Given the description of an element on the screen output the (x, y) to click on. 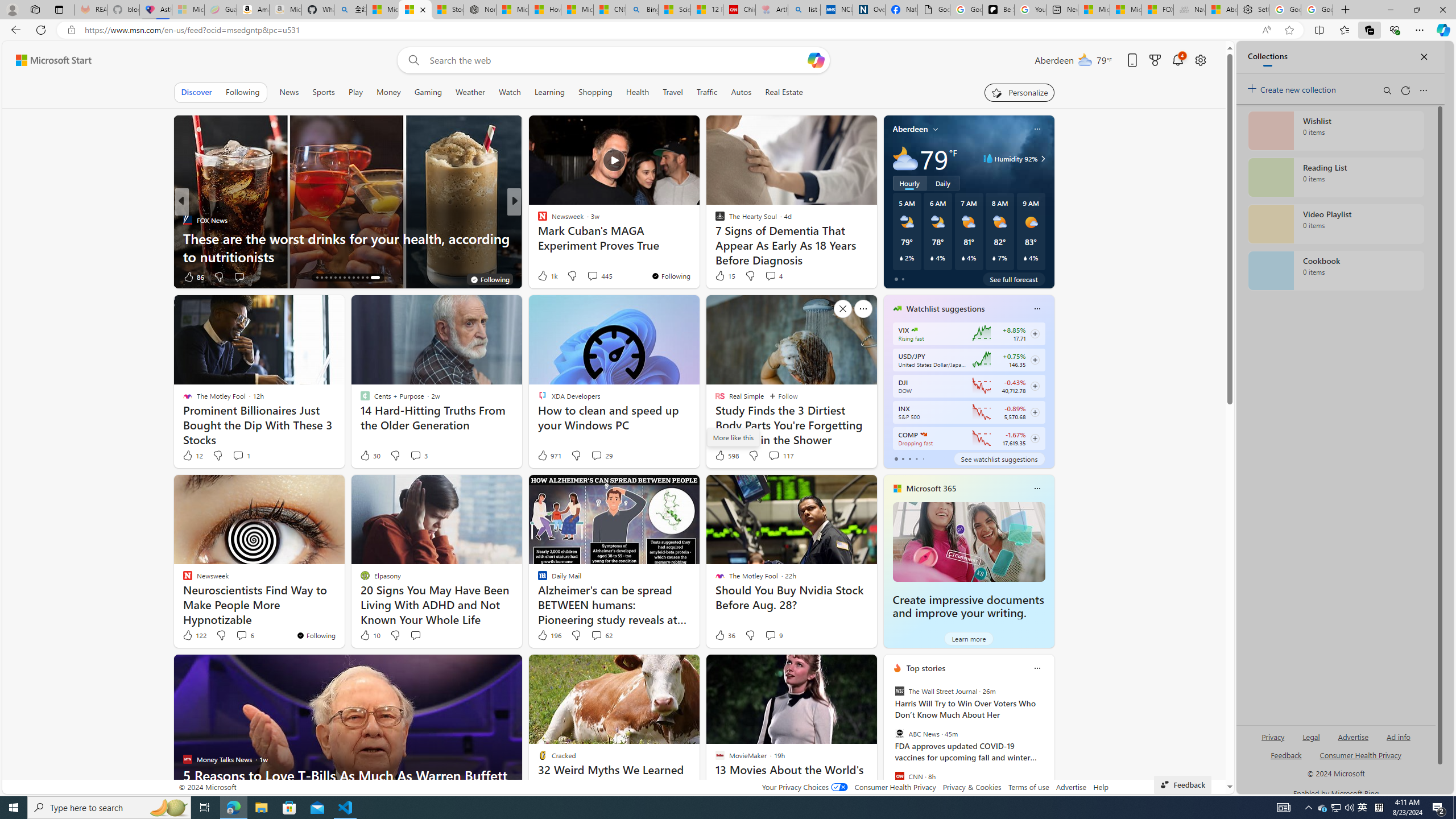
ABC News (898, 733)
